Given the description of an element on the screen output the (x, y) to click on. 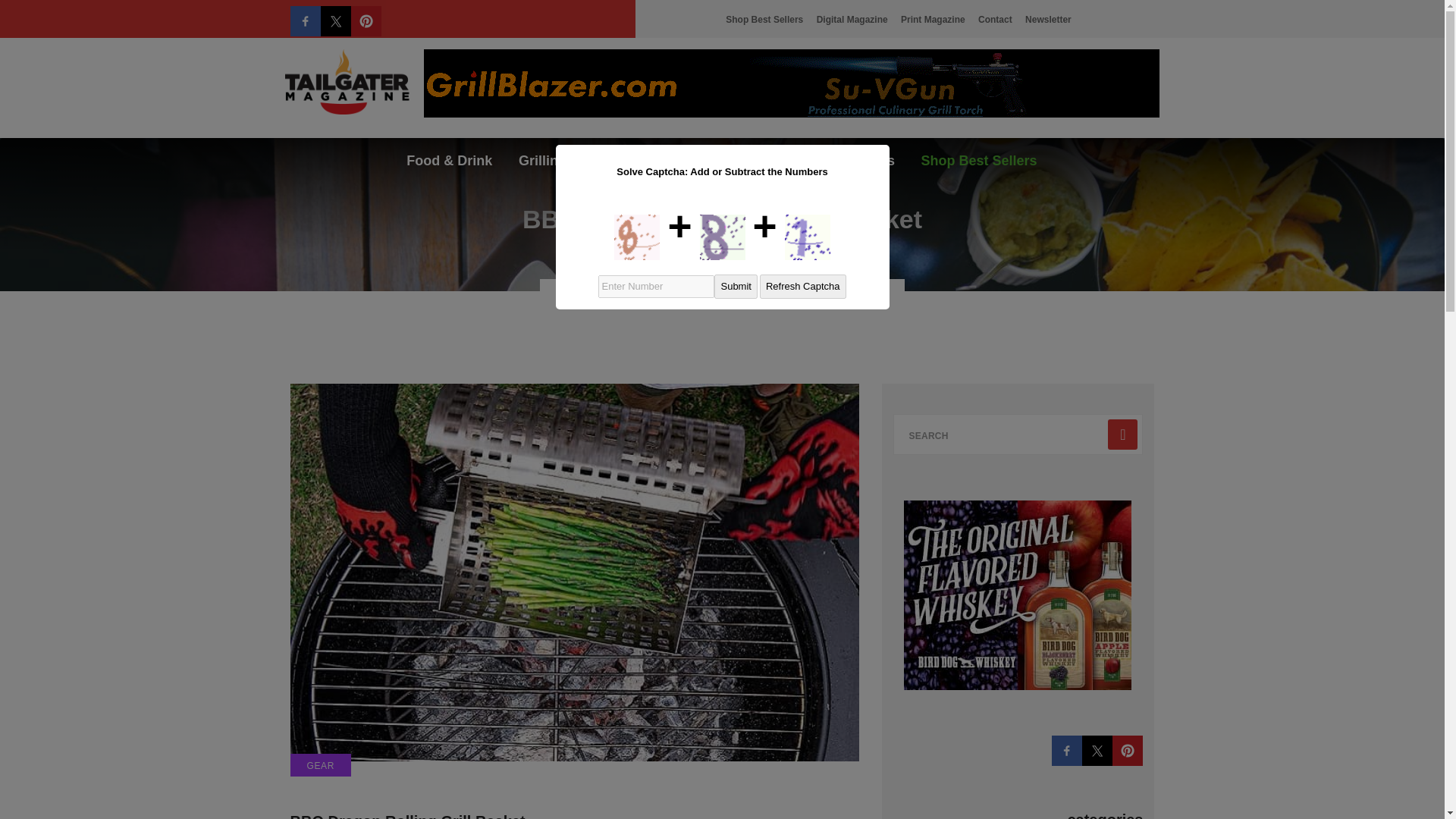
Contests (865, 154)
Newsletter (1048, 19)
Contact (994, 19)
BBQ Dragon Rolling Grill Basket (406, 816)
Gear (608, 154)
Print Magazine (933, 19)
Digital Magazine (852, 19)
Sports (670, 154)
Submit (735, 286)
Shop Best Sellers (979, 154)
Expert Advice (764, 154)
Refresh Captcha (802, 286)
Grilling (542, 154)
Shop Best Sellers (764, 19)
